Given the description of an element on the screen output the (x, y) to click on. 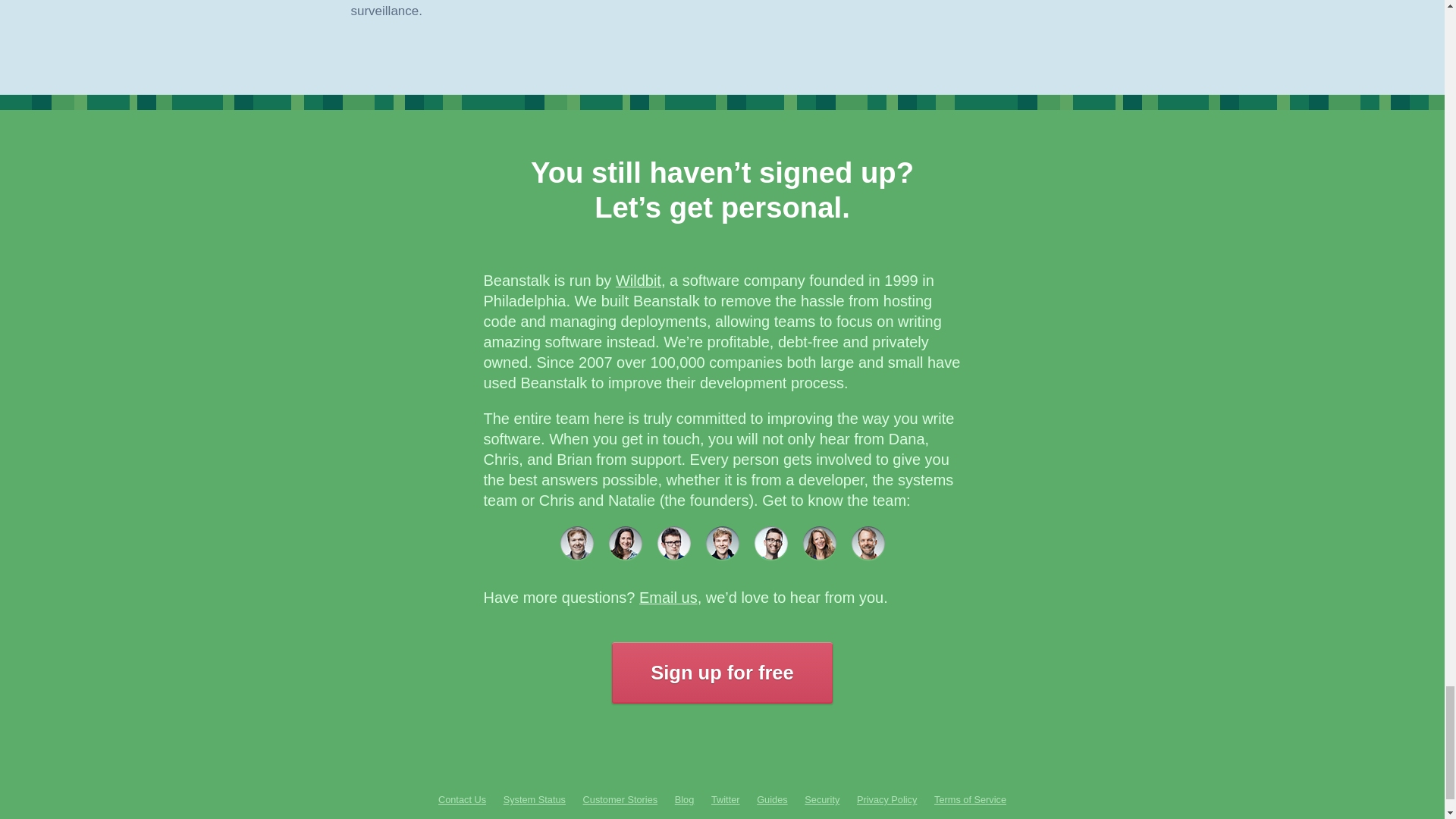
Guides (772, 799)
Eugene Fedorenko (673, 542)
Natalie Nagele (625, 542)
Email us (668, 597)
Terms of Service (970, 799)
Chris Nagele (575, 542)
Privacy Policy (887, 799)
Wildbit (638, 280)
Ilya Sabanin (721, 542)
Contact Us (462, 799)
Blog (684, 799)
Igor Balos (770, 542)
Dana Chaby (818, 542)
Sign up for free (721, 673)
System Status (534, 799)
